Given the description of an element on the screen output the (x, y) to click on. 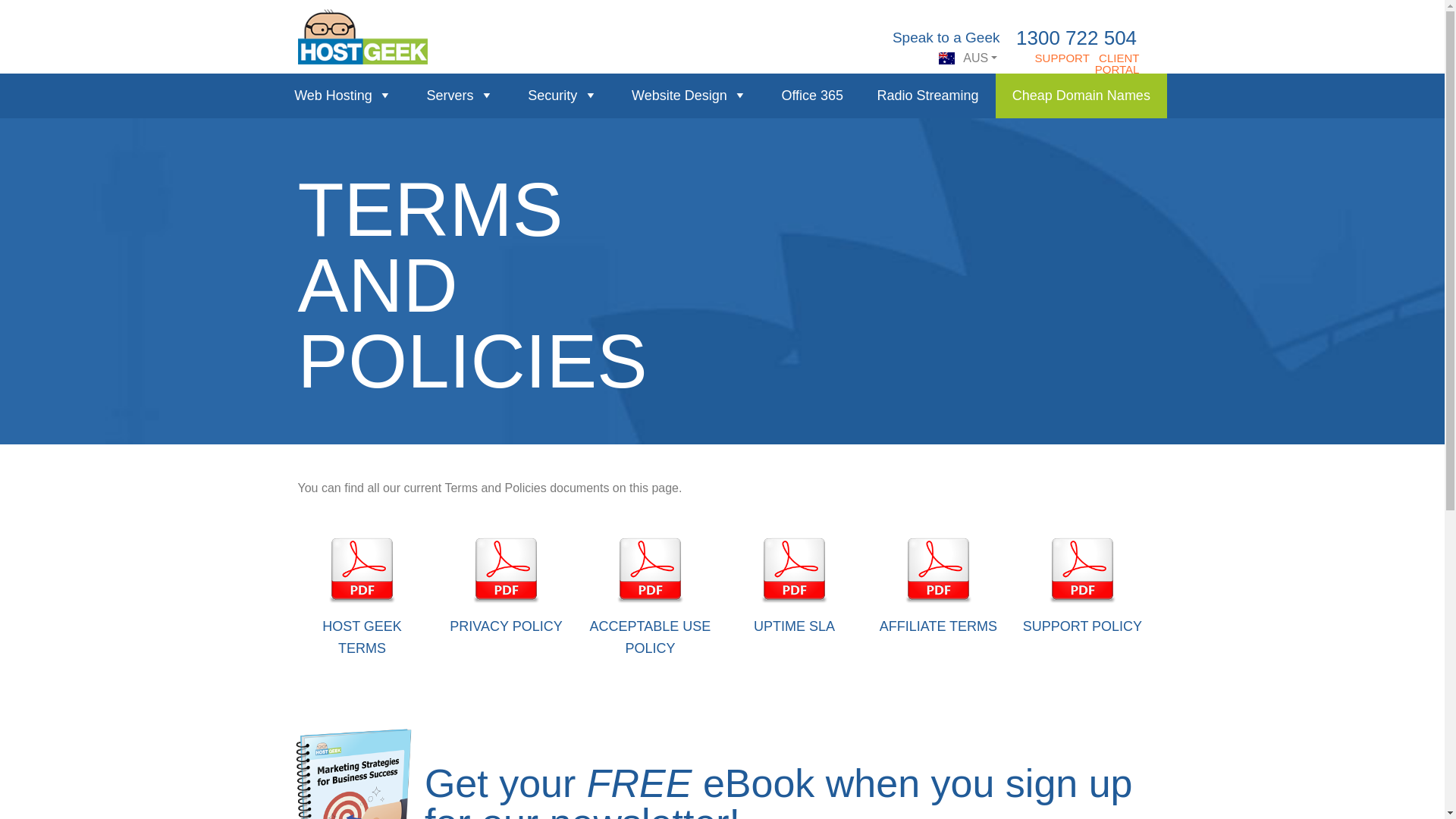
Cheap Domain Names Element type: text (1081, 95)
Security Element type: text (563, 95)
UPTIME SLA Element type: text (793, 625)
ACCEPTABLE USE POLICY Element type: text (650, 636)
SUPPORT Element type: text (1062, 57)
SUPPORT POLICY Element type: text (1082, 625)
Web Hosting Element type: text (343, 95)
Radio Streaming Element type: text (926, 95)
Website Design Element type: text (689, 95)
Office 365 Element type: text (811, 95)
CLIENT PORTAL Element type: text (1117, 63)
PRIVACY POLICY Element type: text (505, 625)
1300 722 504 Element type: text (1076, 37)
Servers Element type: text (460, 95)
  AUS Element type: text (967, 58)
AFFILIATE TERMS Element type: text (938, 625)
HOST GEEK TERMS Element type: text (361, 636)
